Given the description of an element on the screen output the (x, y) to click on. 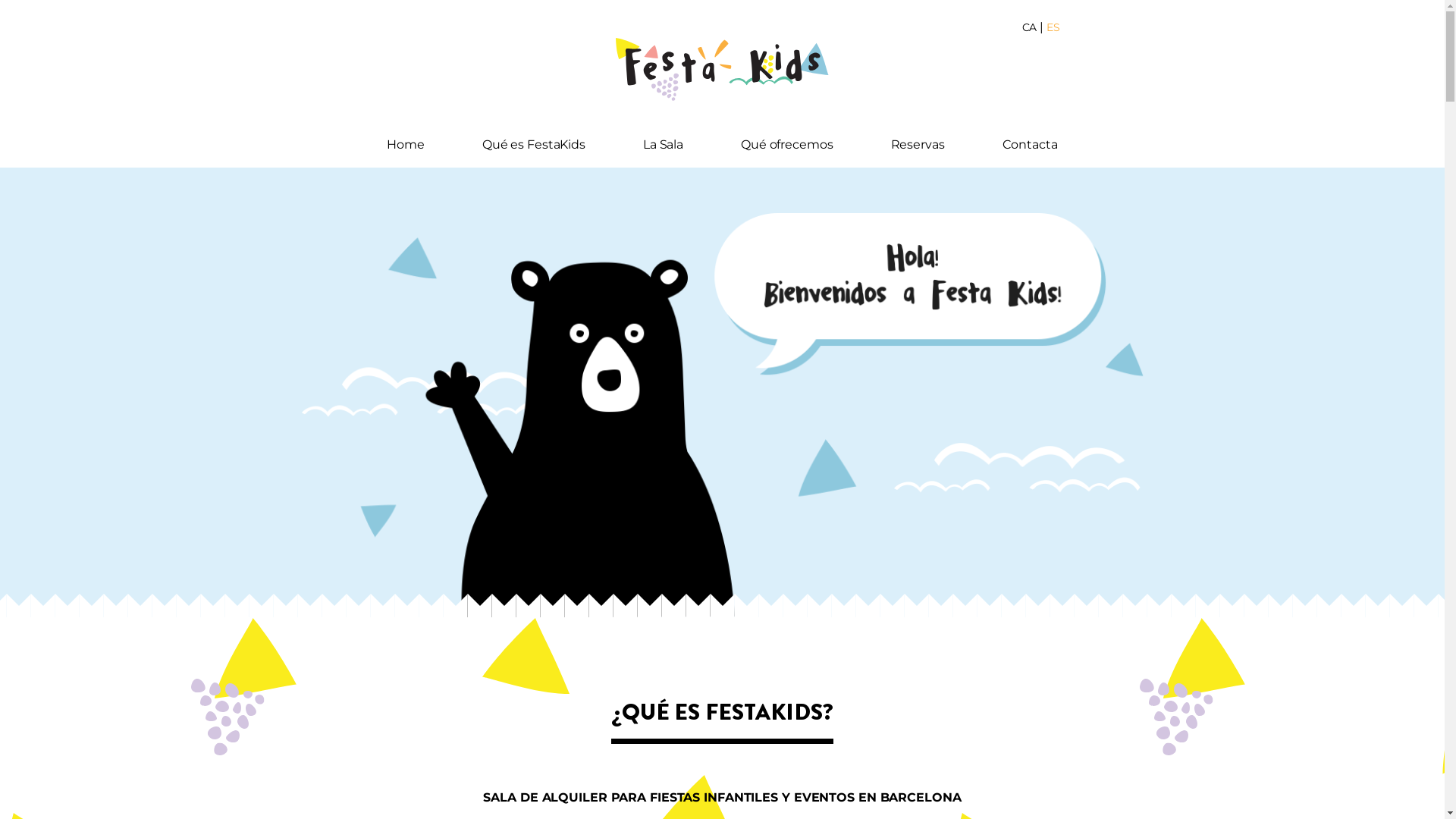
CA Element type: text (1029, 27)
Contacta Element type: text (1029, 144)
Festa Kids Element type: text (721, 68)
Reservas Element type: text (917, 144)
Home Element type: text (405, 144)
ES Element type: text (1053, 27)
La Sala Element type: text (663, 144)
